Given the description of an element on the screen output the (x, y) to click on. 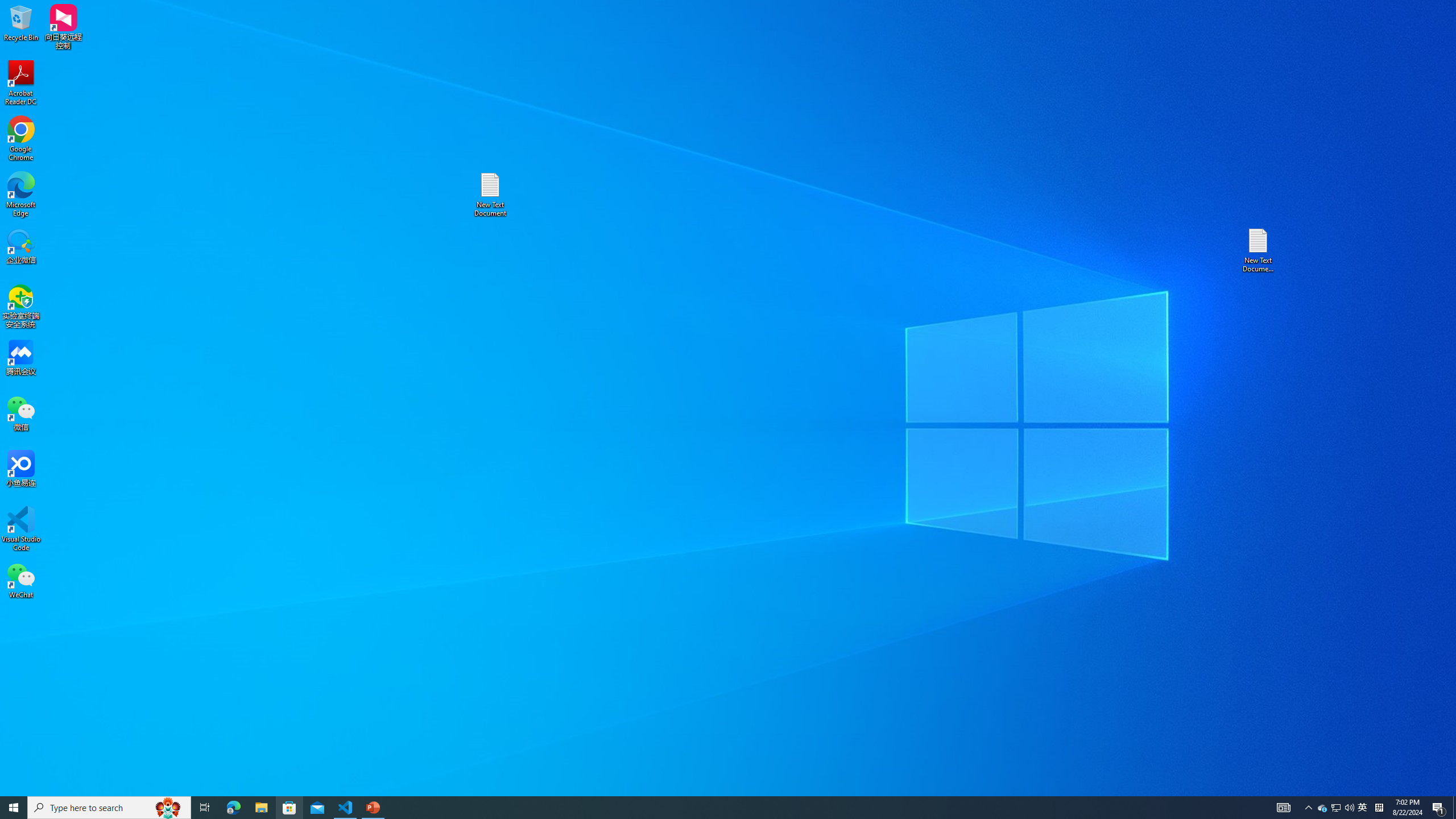
Acrobat Reader DC (21, 82)
Action Center, 1 new notification (1439, 807)
WeChat (21, 580)
Google Chrome (21, 138)
Running applications (700, 807)
